Given the description of an element on the screen output the (x, y) to click on. 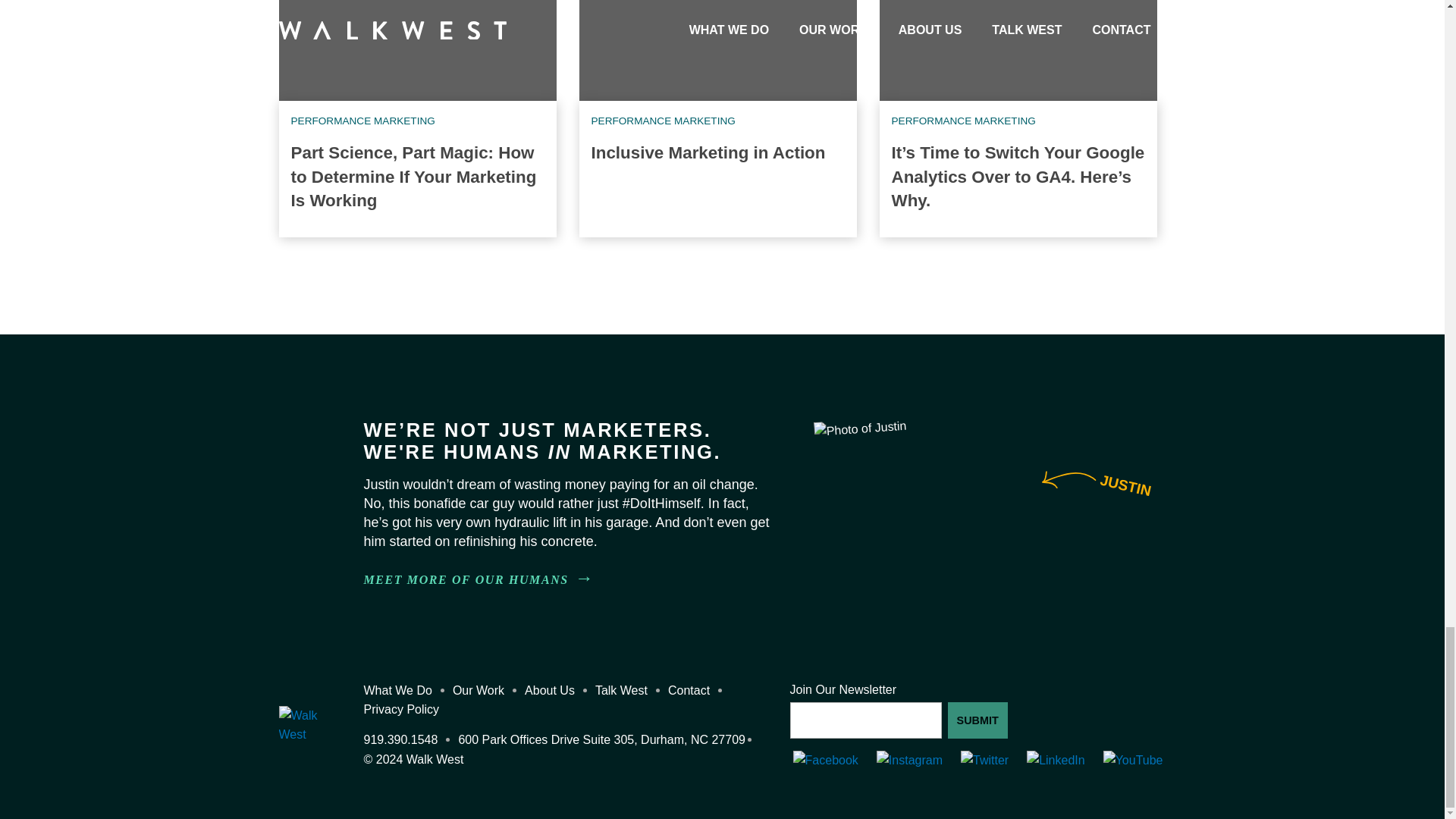
About Us (552, 689)
Contact (692, 689)
Walk West (305, 734)
Privacy Policy (404, 708)
Submit (977, 719)
Talk West (624, 689)
Submit (977, 719)
MEET MORE OF OUR HUMANS (404, 739)
Privacy Policy (466, 579)
